Given the description of an element on the screen output the (x, y) to click on. 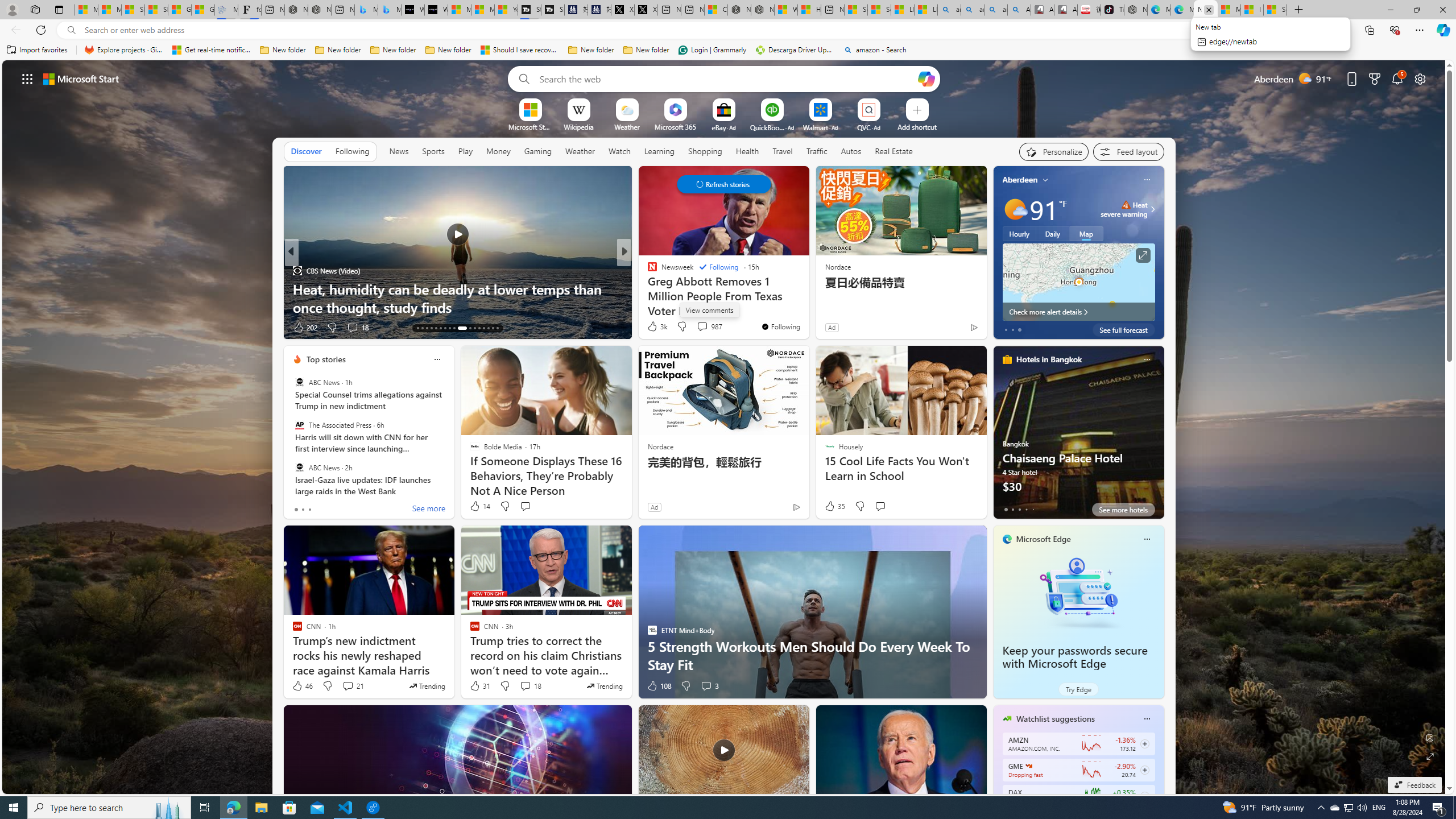
Gilma and Hector both pose tropical trouble for Hawaii (202, 9)
Microsoft Bing Travel - Shangri-La Hotel Bangkok (389, 9)
View comments 21 Comment (352, 685)
View comments 17 Comment (703, 327)
AutomationID: tab-23 (470, 328)
ABC News (299, 466)
Feedback (1414, 784)
I Gained 20 Pounds of Muscle in 30 Days! | Watch (1252, 9)
Class: weather-arrow-glyph (1152, 208)
Nordace - Best Sellers (1135, 9)
tab-1 (1012, 509)
Open Copilot (926, 78)
You're following Newsweek (780, 326)
